Given the description of an element on the screen output the (x, y) to click on. 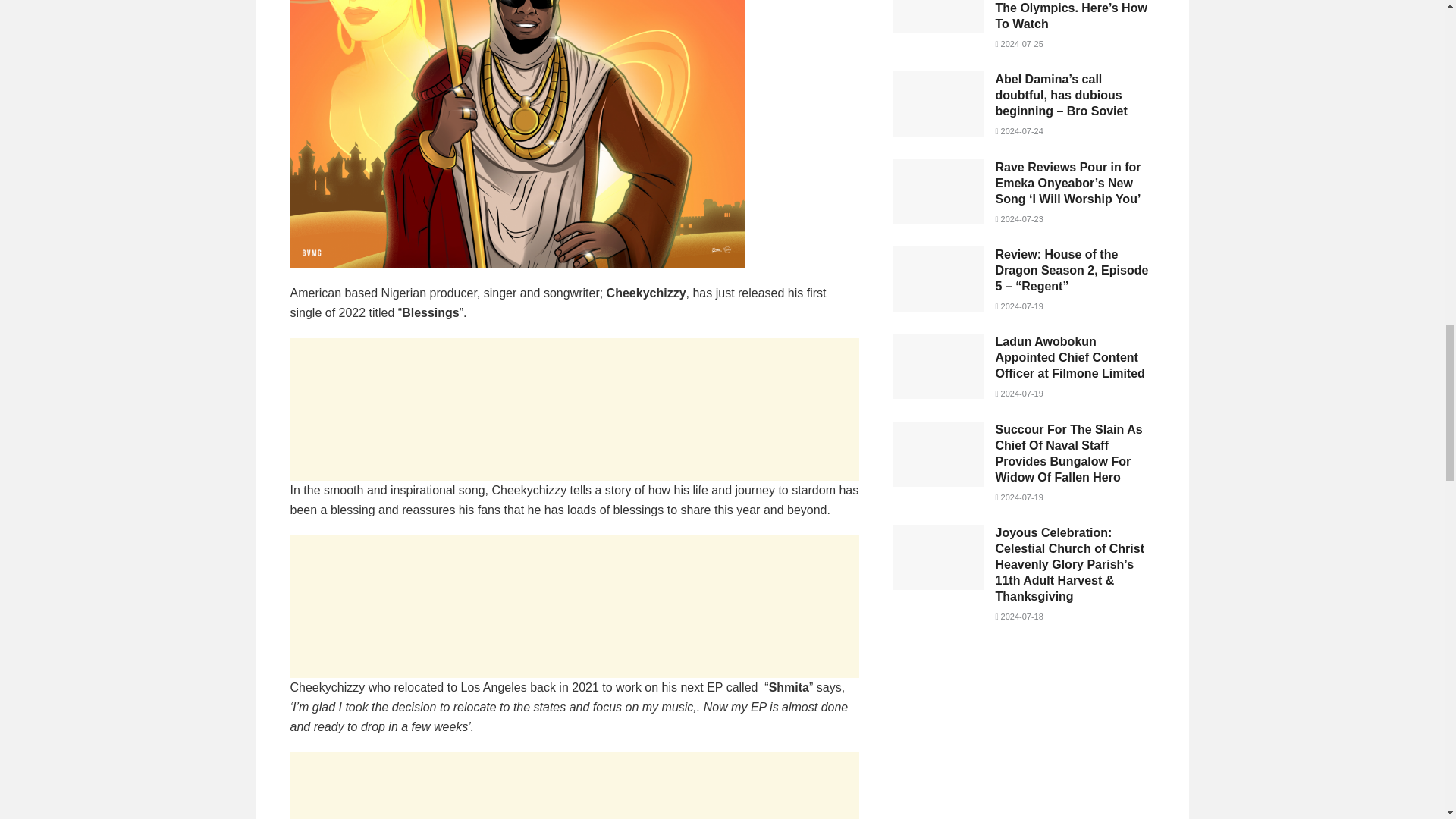
Advertisement (1023, 737)
Advertisement (574, 409)
Advertisement (574, 606)
Advertisement (574, 785)
